Given the description of an element on the screen output the (x, y) to click on. 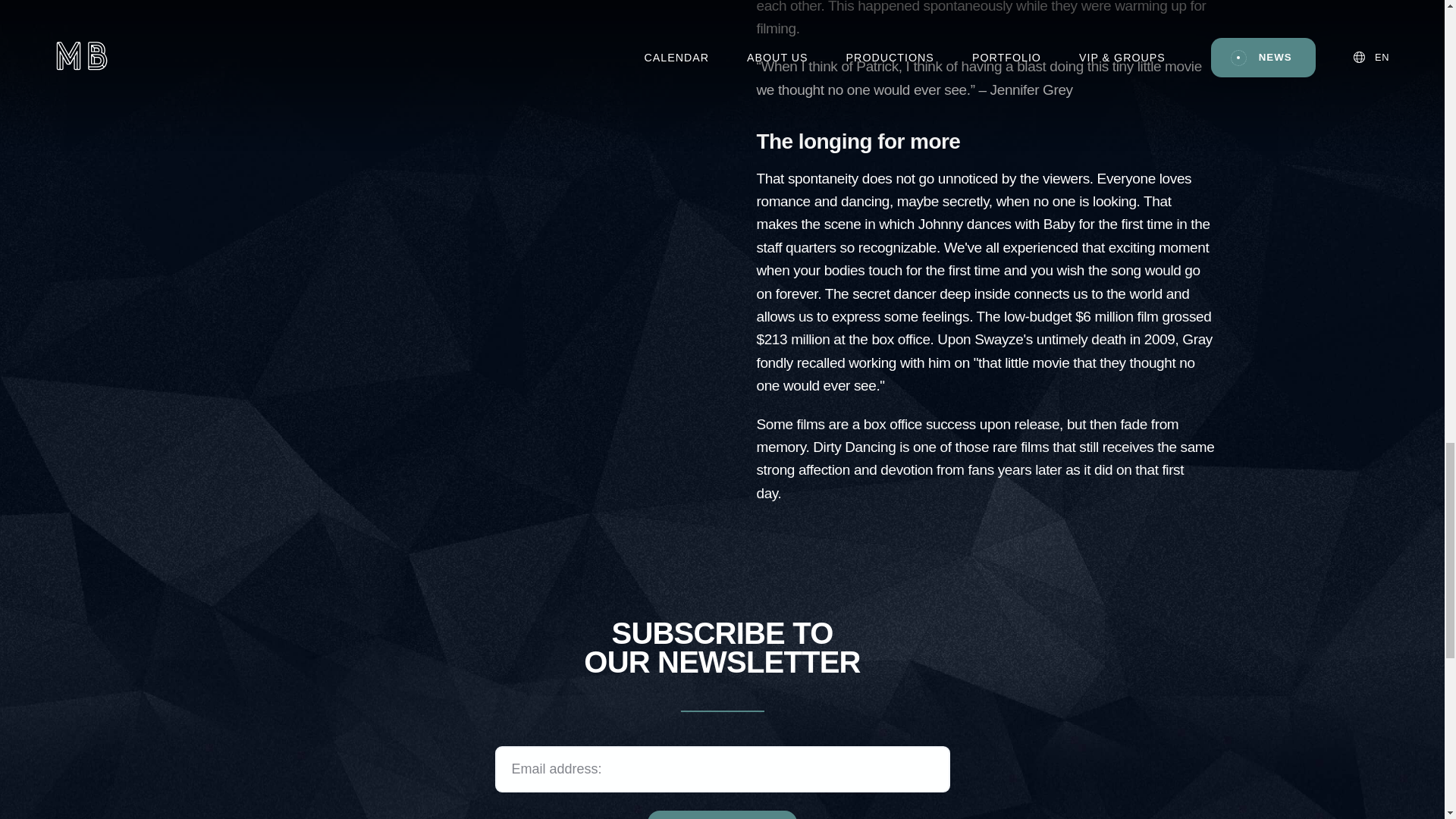
SUBSCRIBE (721, 814)
